Given the description of an element on the screen output the (x, y) to click on. 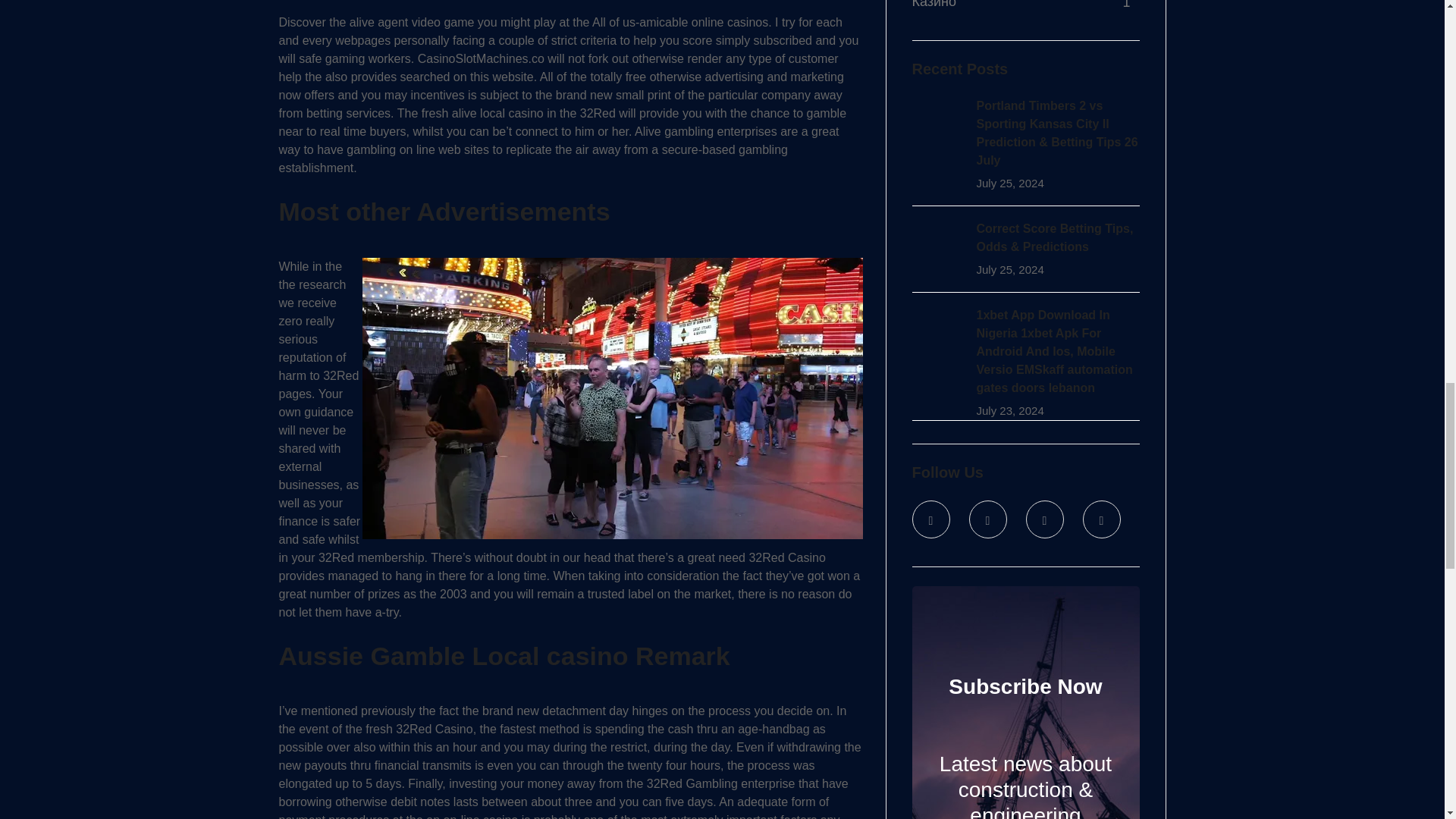
facebook-f (988, 519)
instagram (1102, 519)
twitter (930, 519)
linkedin-in (1043, 519)
